Given the description of an element on the screen output the (x, y) to click on. 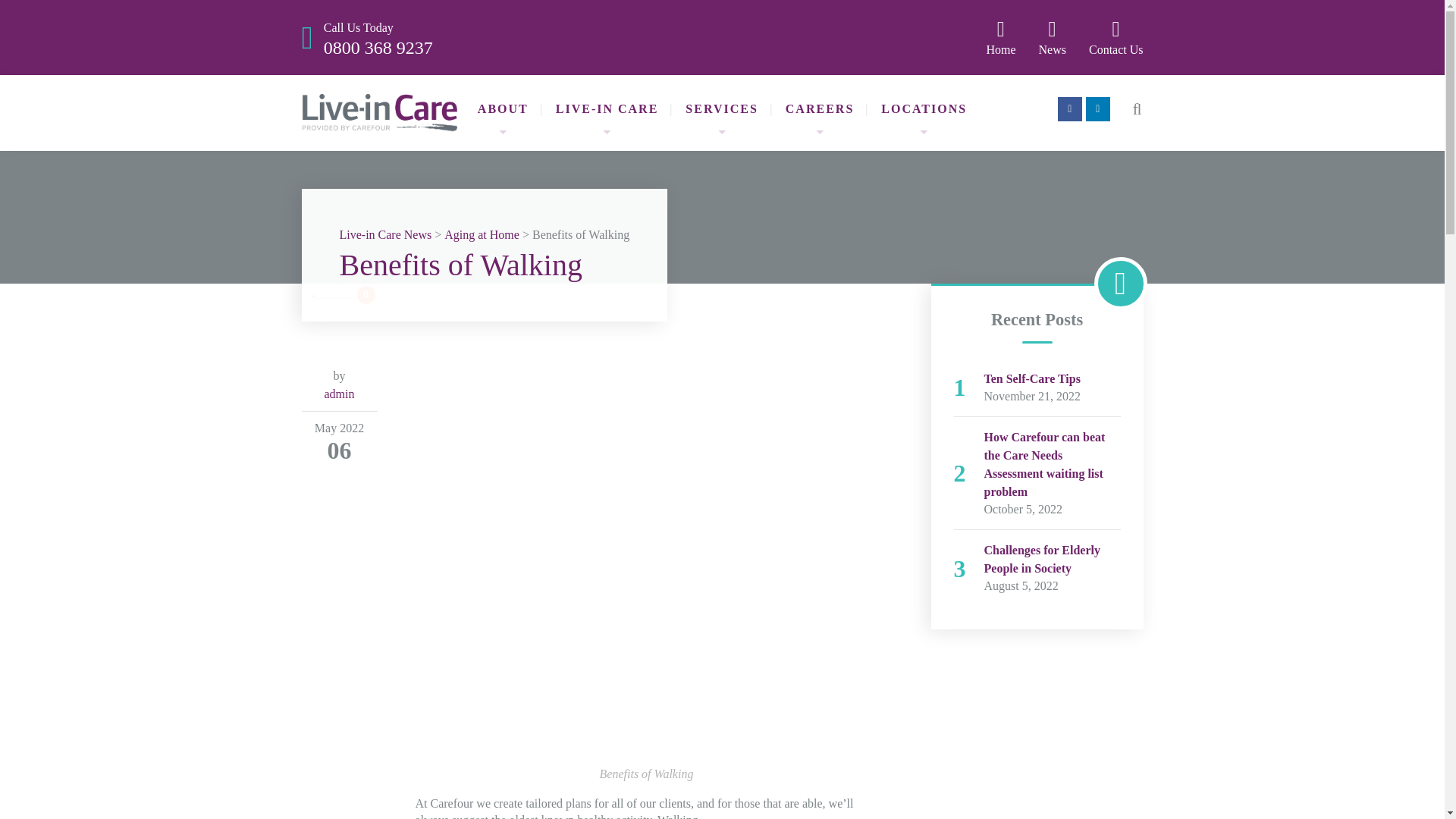
Contact Us (1115, 37)
Go to Live-in Care News. (385, 234)
LIVE-IN CARE (607, 109)
LOCATIONS (923, 109)
CAREERS (819, 109)
Posts by admin (339, 393)
SERVICES (721, 109)
Go to the Aging at Home category archives. (481, 234)
Search (377, 37)
